Given the description of an element on the screen output the (x, y) to click on. 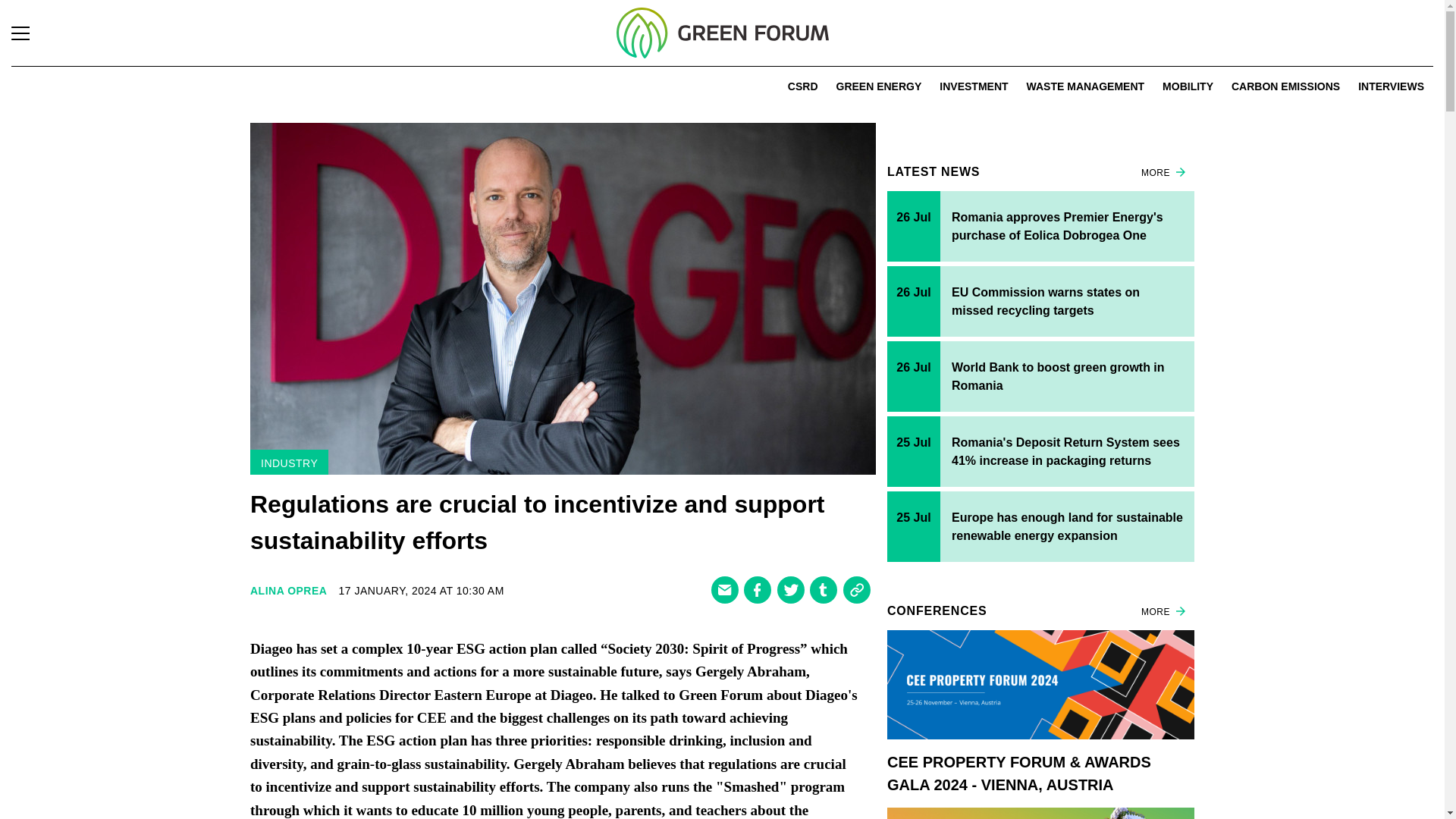
INVESTMENT (973, 86)
Send in email (724, 589)
CARBON EMISSIONS (1285, 86)
Share on Facebook (757, 589)
CSRD (802, 86)
Copy page link (856, 589)
INDUSTRY (288, 463)
GREEN ENERGY (878, 86)
Share on Tumblr (823, 589)
INTERVIEWS (1390, 86)
Share on Twitter (789, 589)
WASTE MANAGEMENT (1085, 86)
MOBILITY (1186, 86)
